Given the description of an element on the screen output the (x, y) to click on. 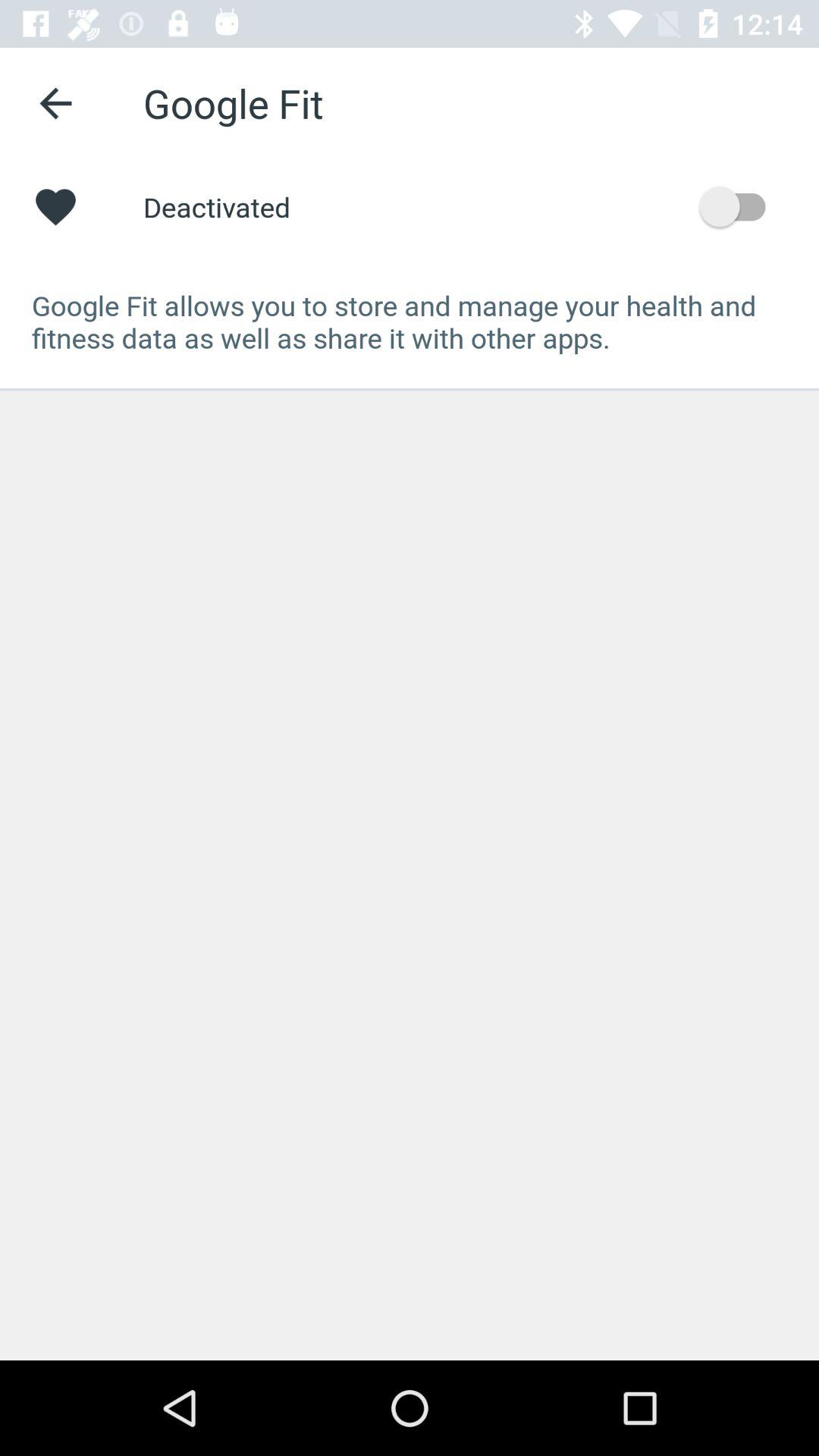
on/off (739, 206)
